Given the description of an element on the screen output the (x, y) to click on. 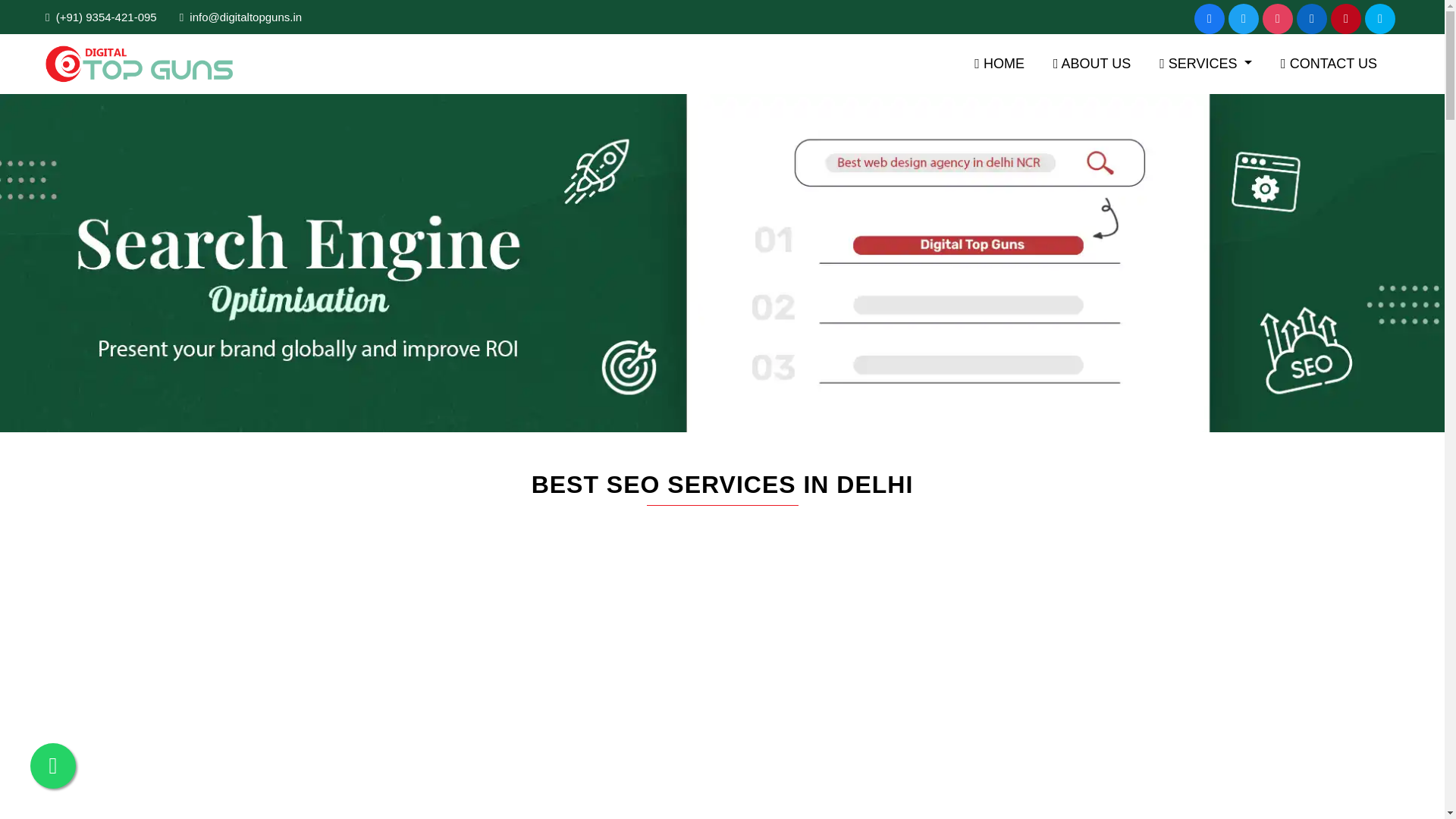
HOME (999, 63)
twitter (1243, 19)
CONTACT US (1329, 63)
ABOUT US (1091, 63)
linkedin (1311, 19)
pinterest (1345, 19)
facebook (1208, 19)
skype (1379, 19)
instagram (1277, 19)
SERVICES (1206, 63)
